Given the description of an element on the screen output the (x, y) to click on. 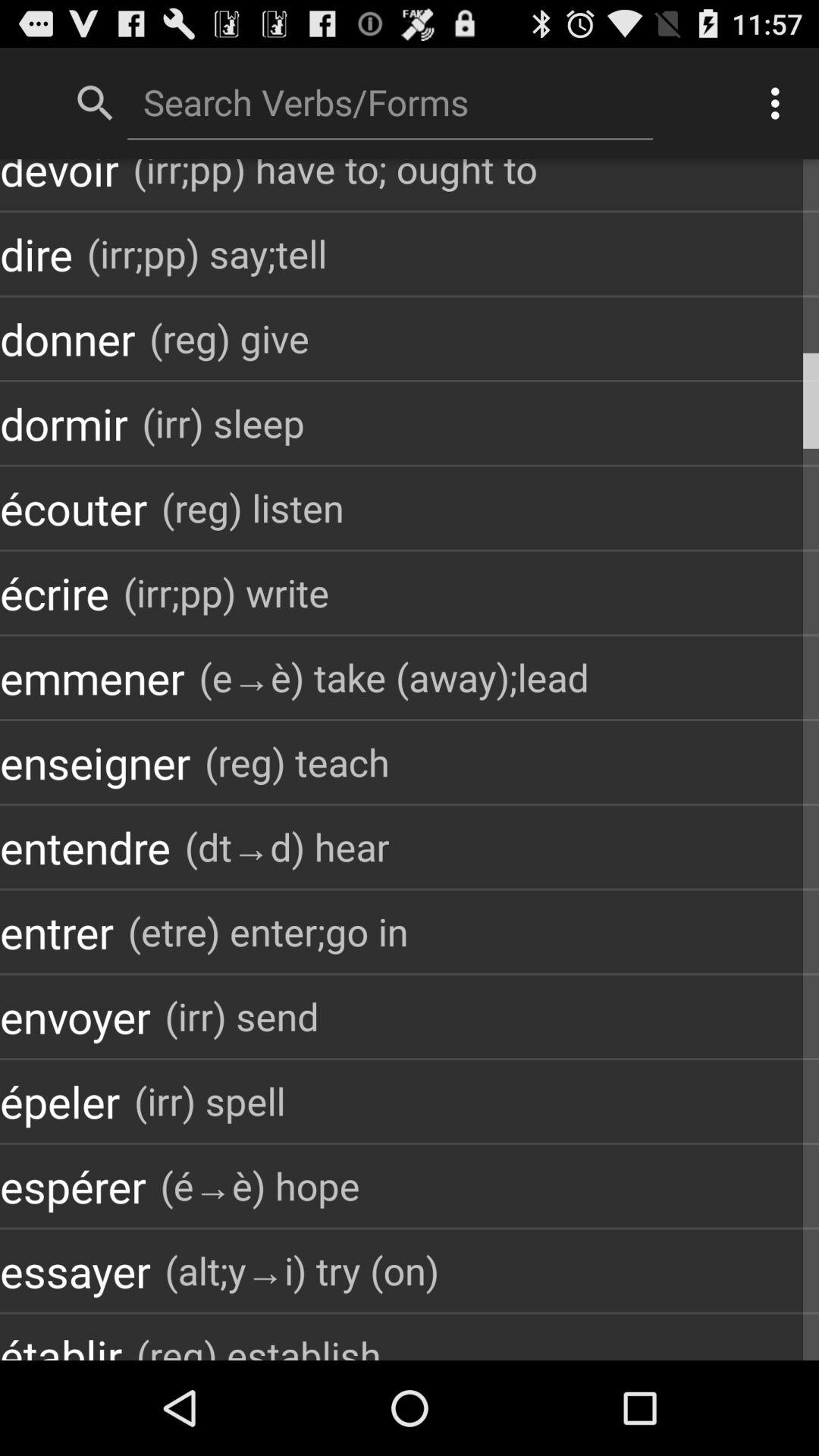
press the icon above the alt y i item (260, 1185)
